Given the description of an element on the screen output the (x, y) to click on. 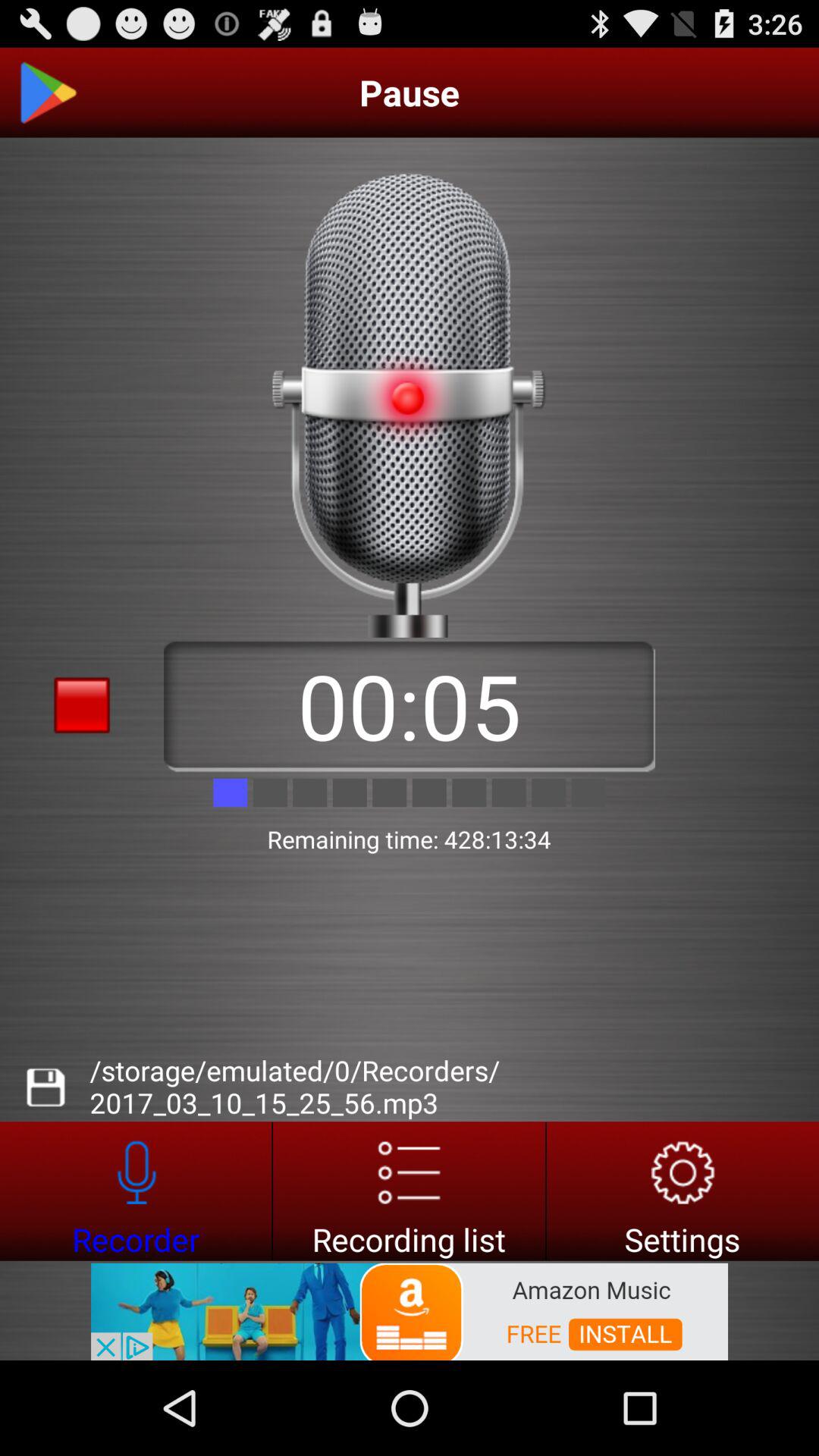
start recording (135, 1190)
